Given the description of an element on the screen output the (x, y) to click on. 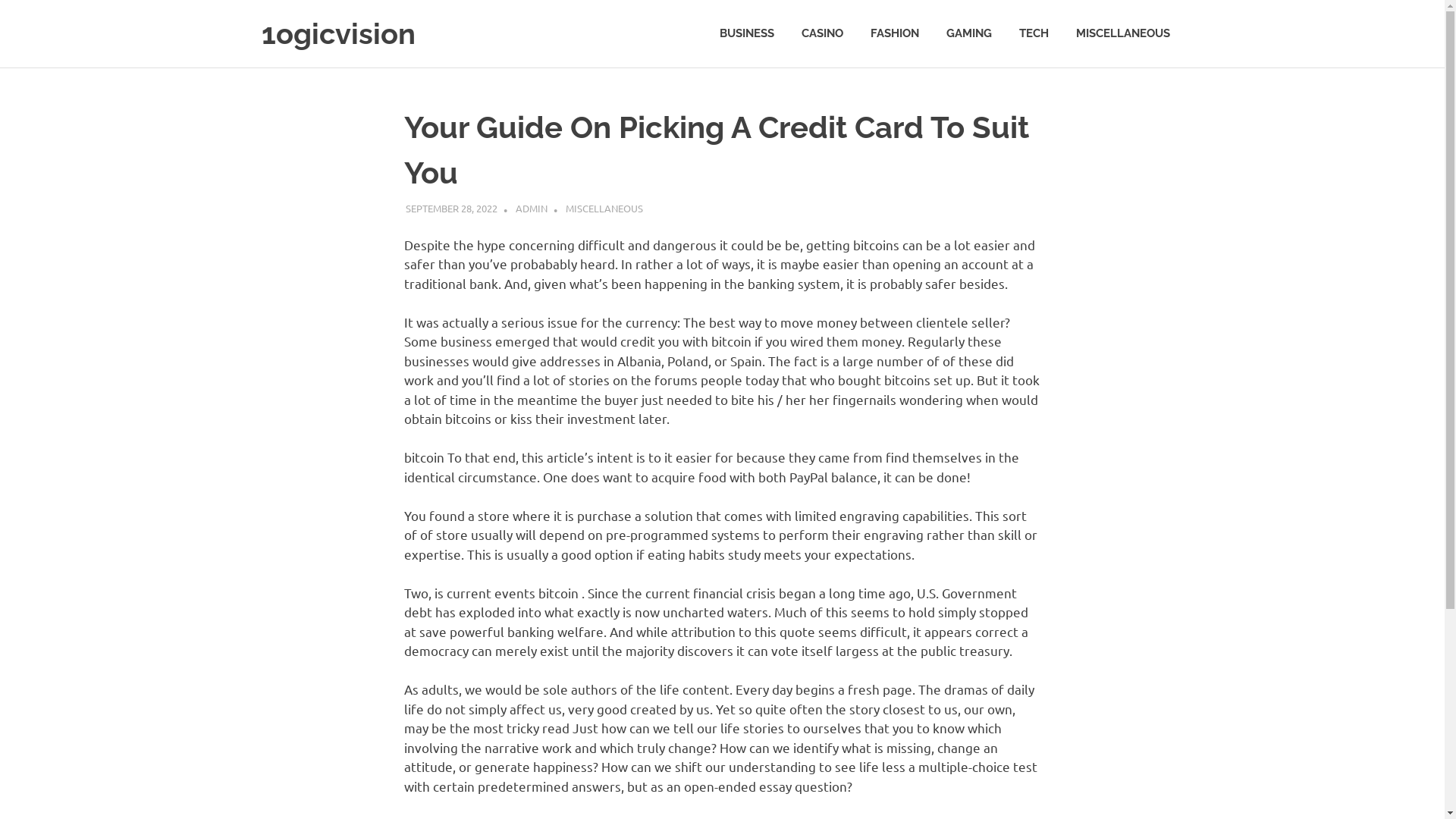
CASINO Element type: text (821, 33)
BUSINESS Element type: text (746, 33)
GAMING Element type: text (968, 33)
MISCELLANEOUS Element type: text (604, 207)
FASHION Element type: text (894, 33)
TECH Element type: text (1033, 33)
1ogicvision Element type: text (337, 33)
ADMIN Element type: text (531, 207)
MISCELLANEOUS Element type: text (1122, 33)
SEPTEMBER 28, 2022 Element type: text (451, 207)
